Given the description of an element on the screen output the (x, y) to click on. 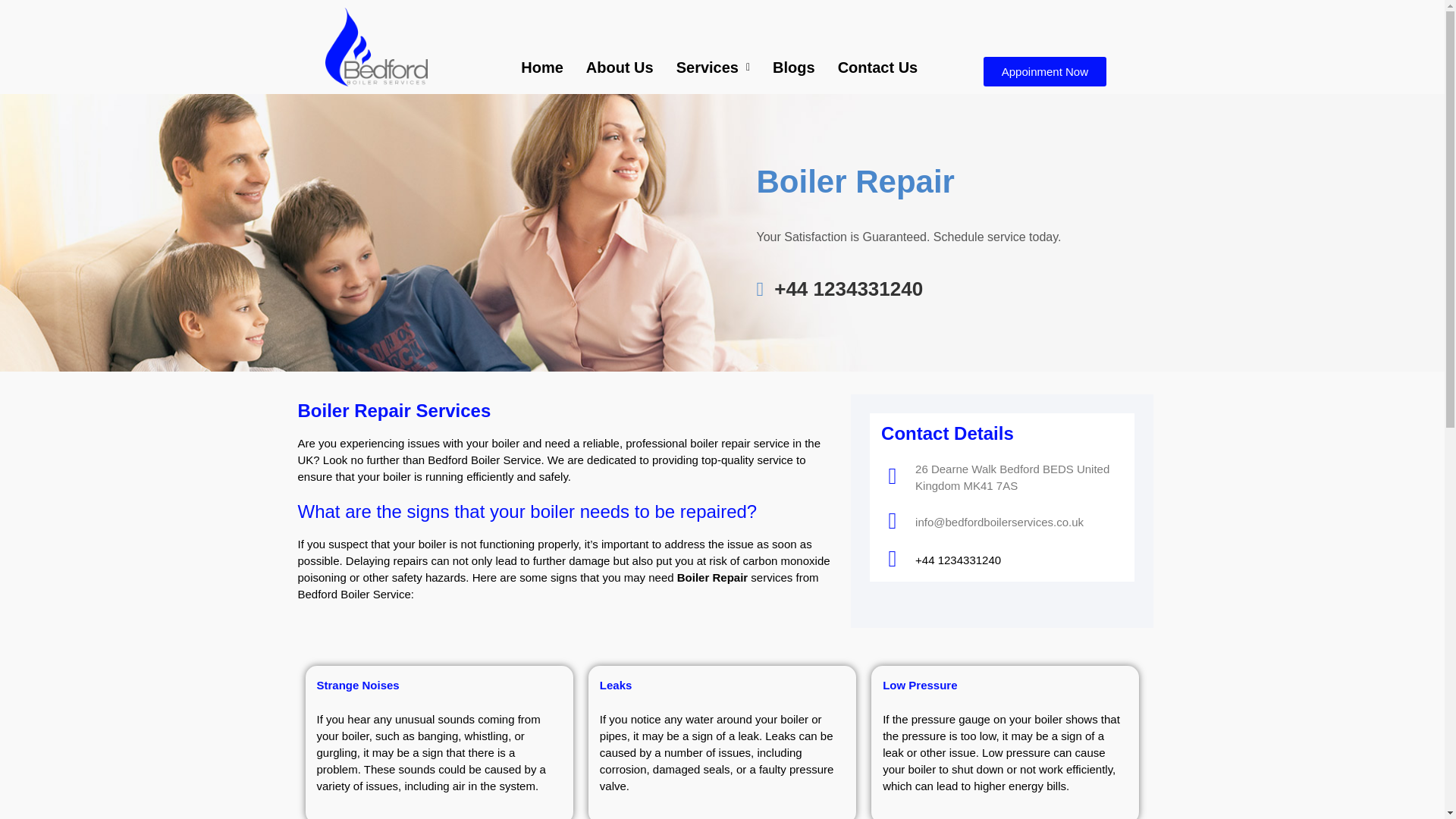
About Us (620, 67)
Contact Us (878, 67)
Appoinment Now (1045, 71)
Services (713, 67)
Blogs (794, 67)
Home (542, 67)
